Given the description of an element on the screen output the (x, y) to click on. 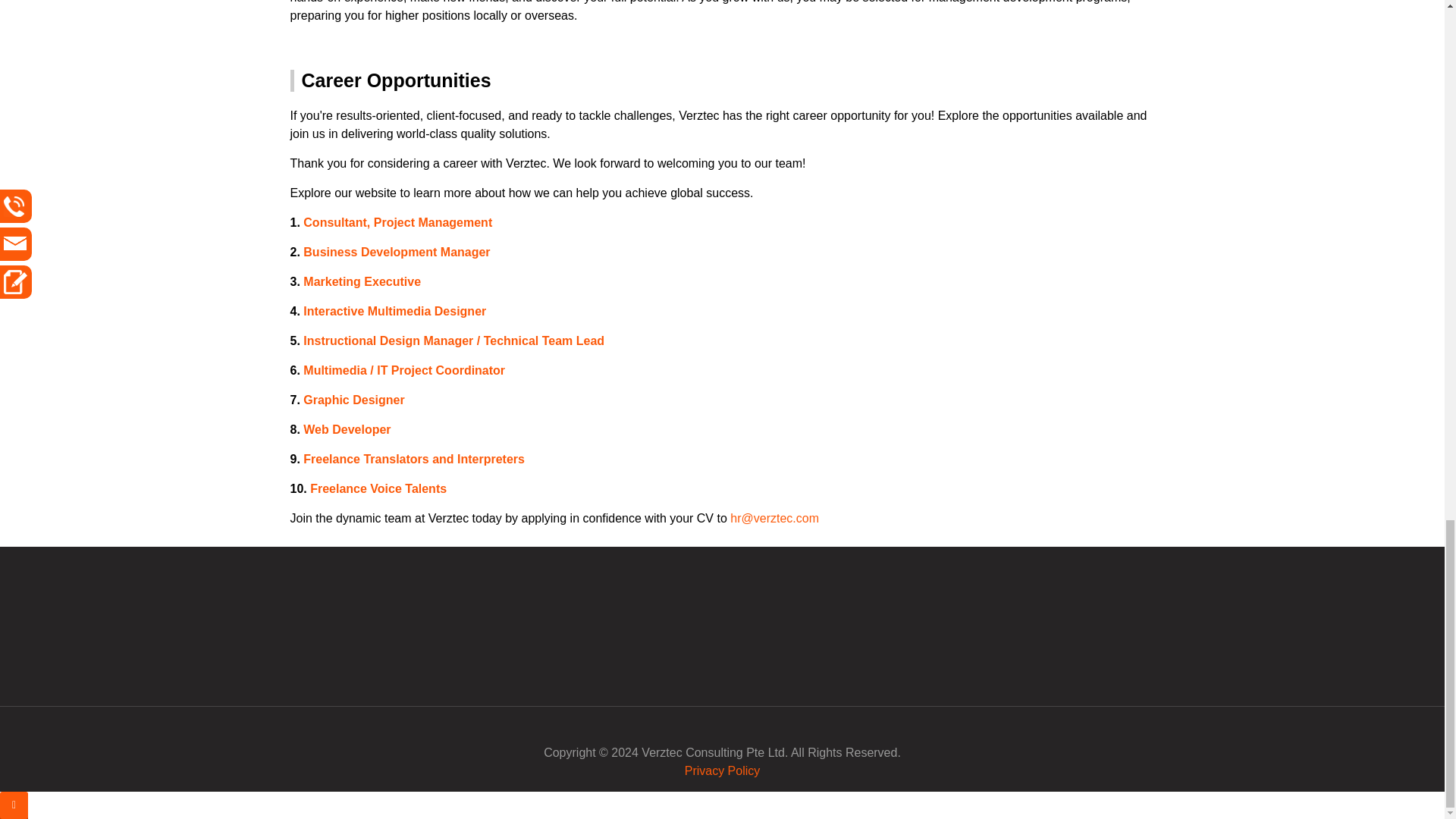
Freelance Translators and Interpreters (413, 459)
Marketing Executive (361, 281)
Freelance Voice Talents (378, 488)
Interactive Multimedia Designer (394, 310)
Web Developer (346, 429)
Business Development Manager (395, 251)
Consultant, Project Management (397, 222)
Graphic Designer (353, 399)
